Given the description of an element on the screen output the (x, y) to click on. 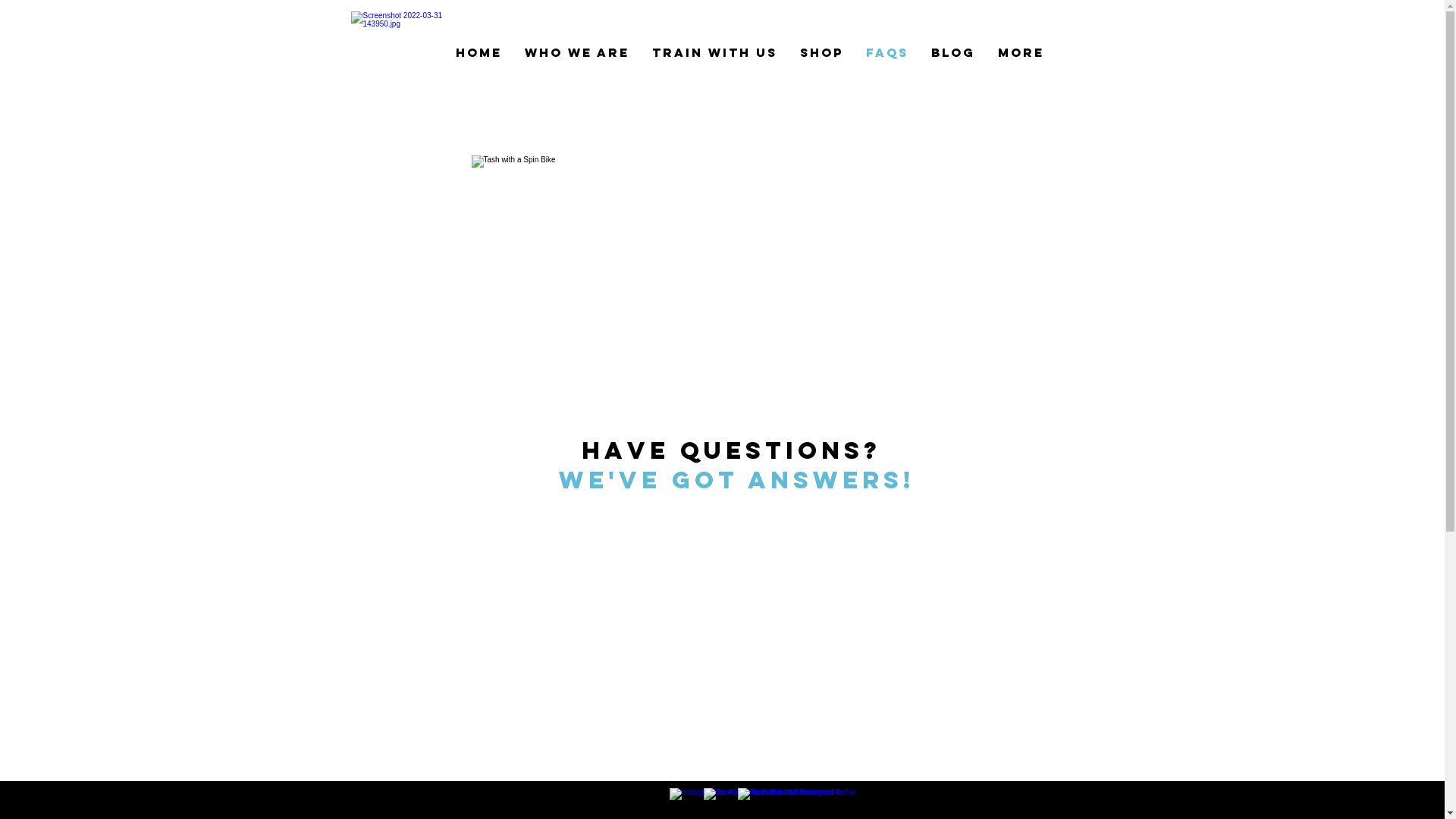
Who We Are Element type: text (576, 52)
Blog Element type: text (952, 52)
Home Element type: text (478, 52)
FAQs Element type: text (886, 52)
Train With Us Element type: text (713, 52)
Shop Element type: text (821, 52)
